Given the description of an element on the screen output the (x, y) to click on. 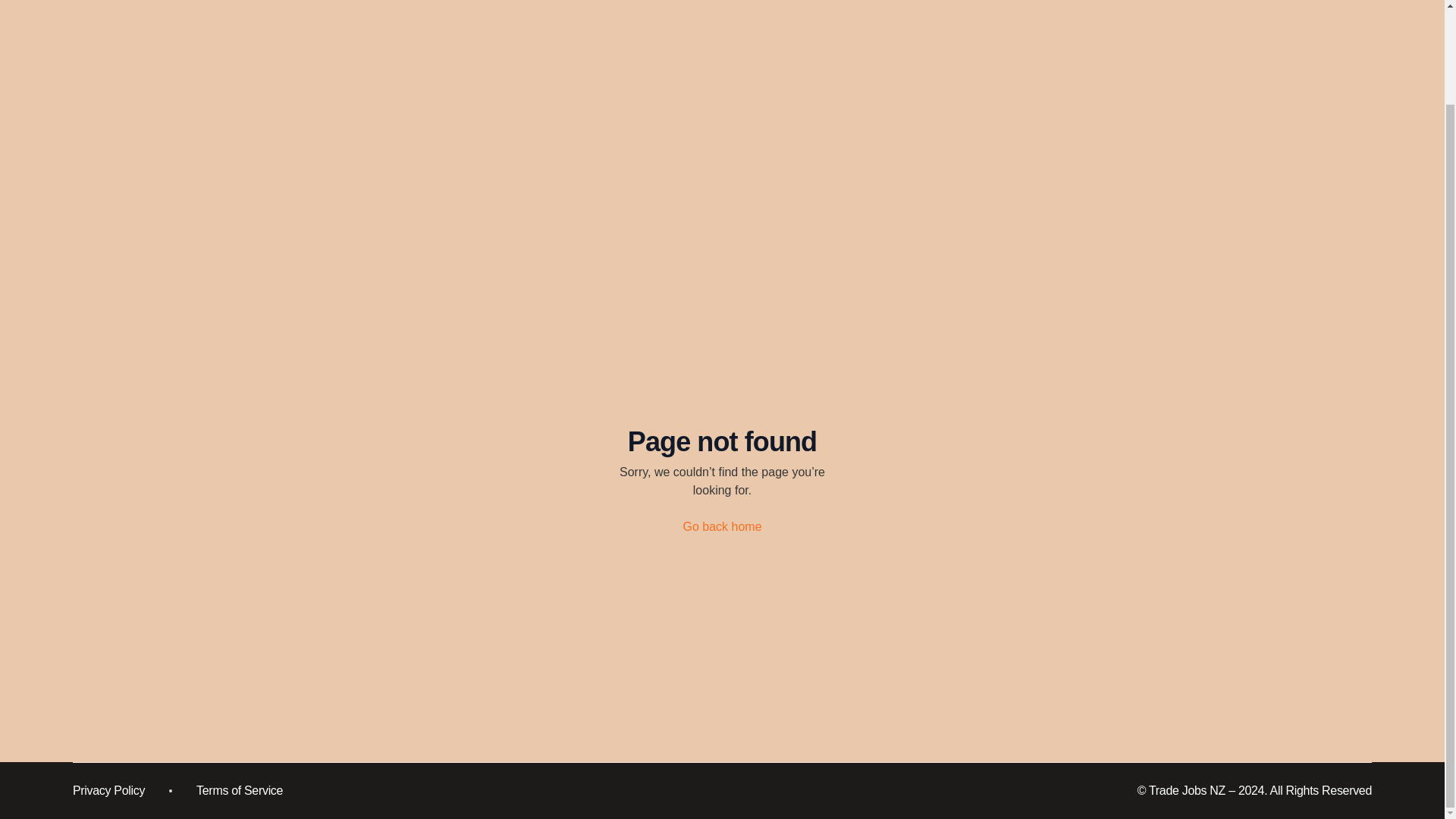
Privacy Policy (108, 789)
Go back home (721, 526)
Terms of Service (239, 789)
